Given the description of an element on the screen output the (x, y) to click on. 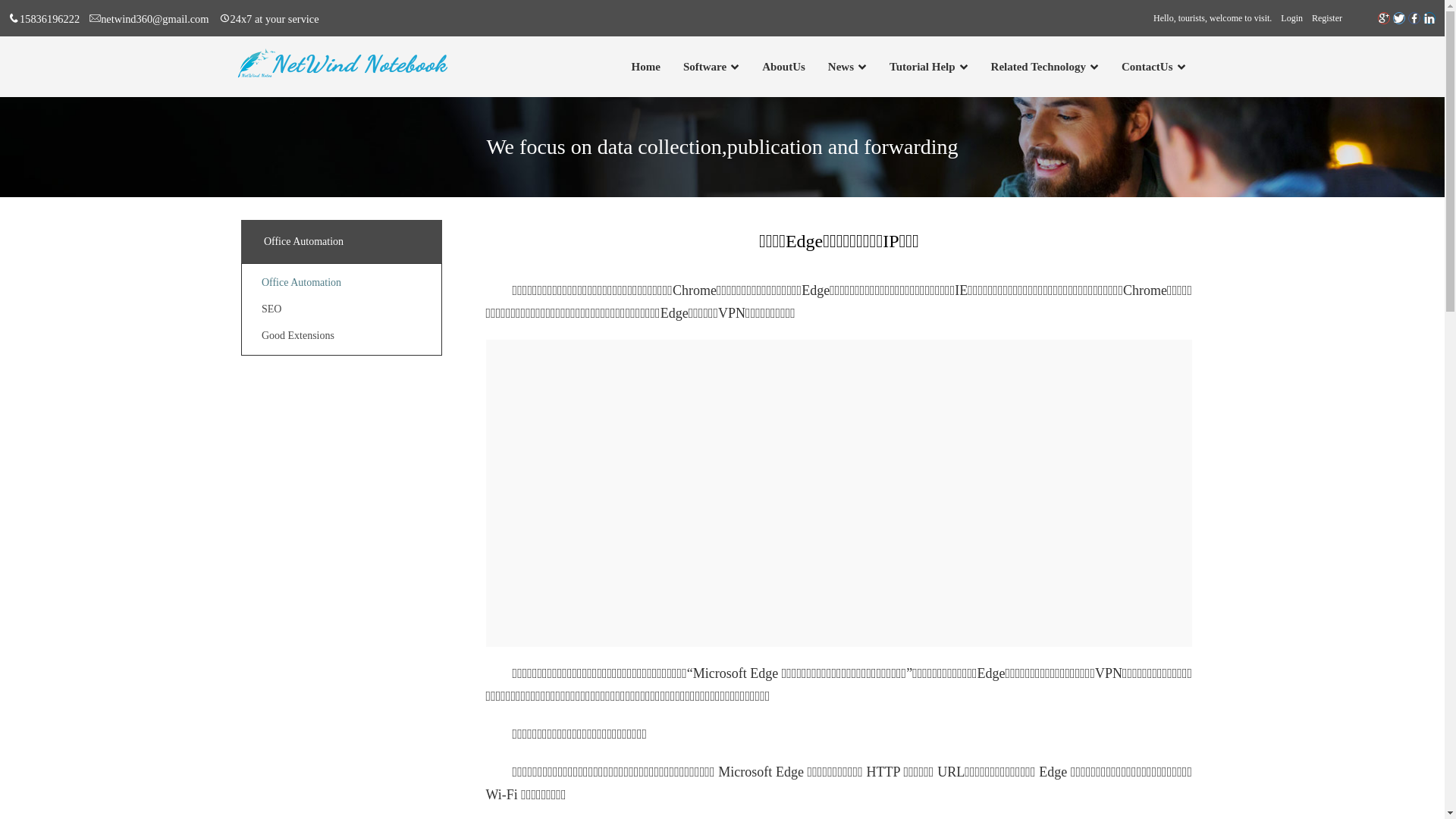
News Element type: text (840, 66)
Related Technology Element type: text (1038, 66)
Home Element type: text (645, 66)
Office Automation Element type: text (301, 282)
Software Element type: text (704, 66)
Login Element type: text (1291, 17)
Register Element type: text (1326, 17)
AboutUs Element type: text (783, 66)
Tutorial Help Element type: text (922, 66)
ContactUs Element type: text (1147, 66)
Good Extensions Element type: text (297, 335)
SEO Element type: text (271, 308)
Home Element type: text (645, 67)
